Given the description of an element on the screen output the (x, y) to click on. 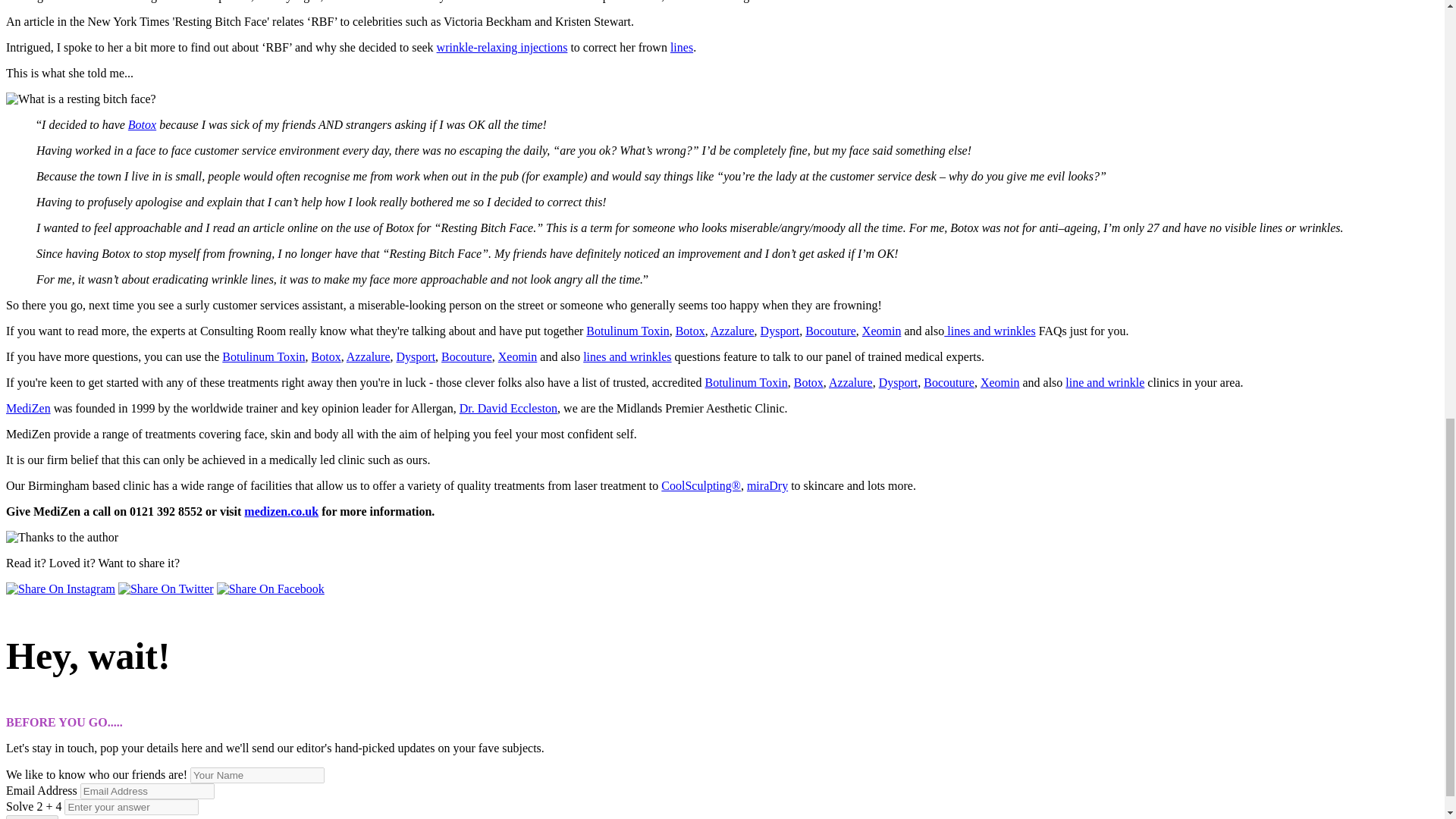
Botox (141, 124)
wrinkle-relaxing injections (501, 47)
Botulinum Toxin (627, 330)
lines (681, 47)
